Given the description of an element on the screen output the (x, y) to click on. 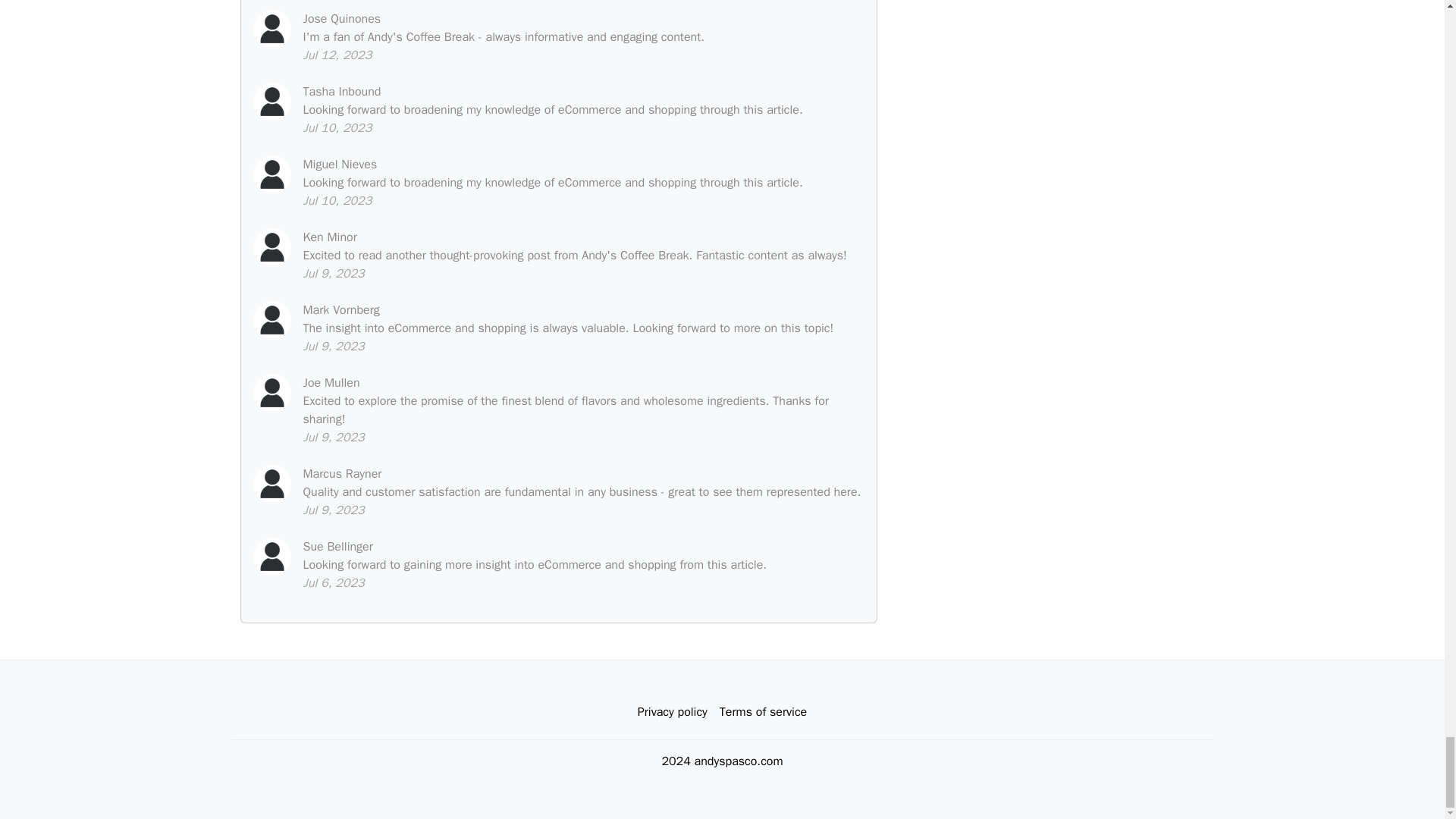
Terms of service (762, 711)
Privacy policy (672, 711)
